Given the description of an element on the screen output the (x, y) to click on. 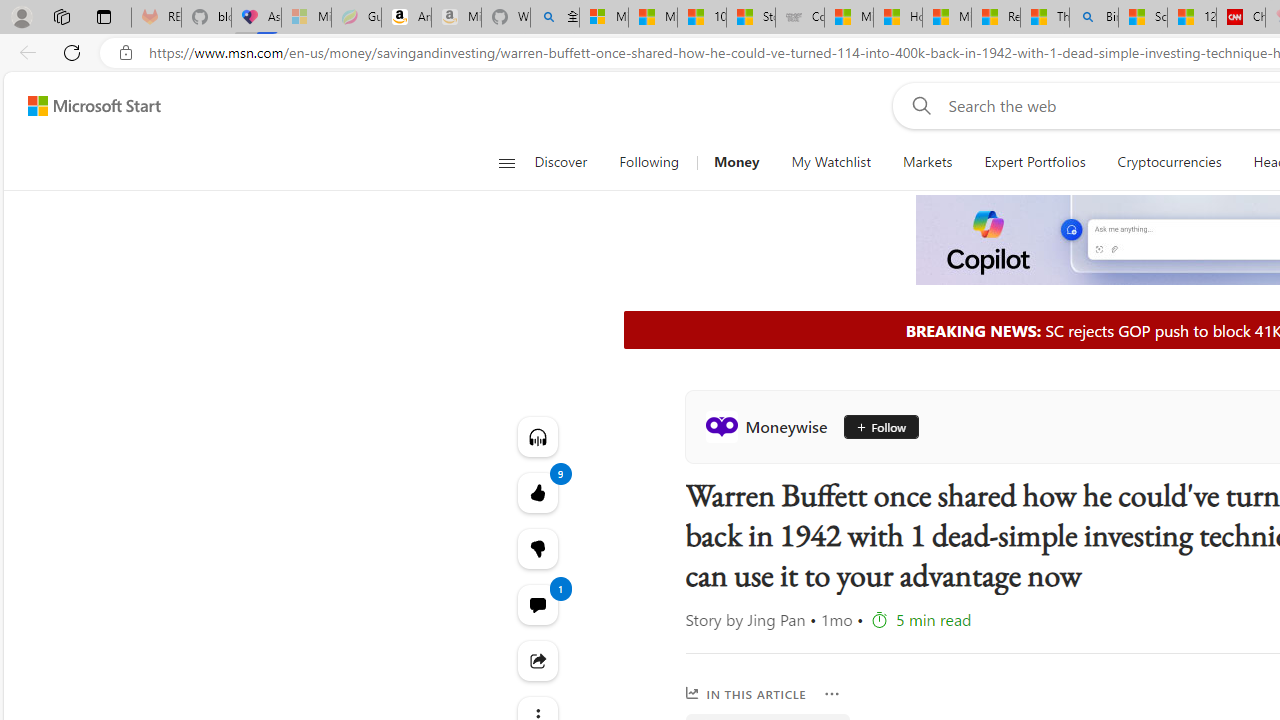
Money (736, 162)
Asthma Inhalers: Names and Types (256, 17)
Class: button-glyph (505, 162)
9 (537, 548)
Web search (917, 105)
Class: at-item (537, 660)
Listen to this article (537, 436)
Moneywise (770, 426)
Money (736, 162)
Expert Portfolios (1034, 162)
